Given the description of an element on the screen output the (x, y) to click on. 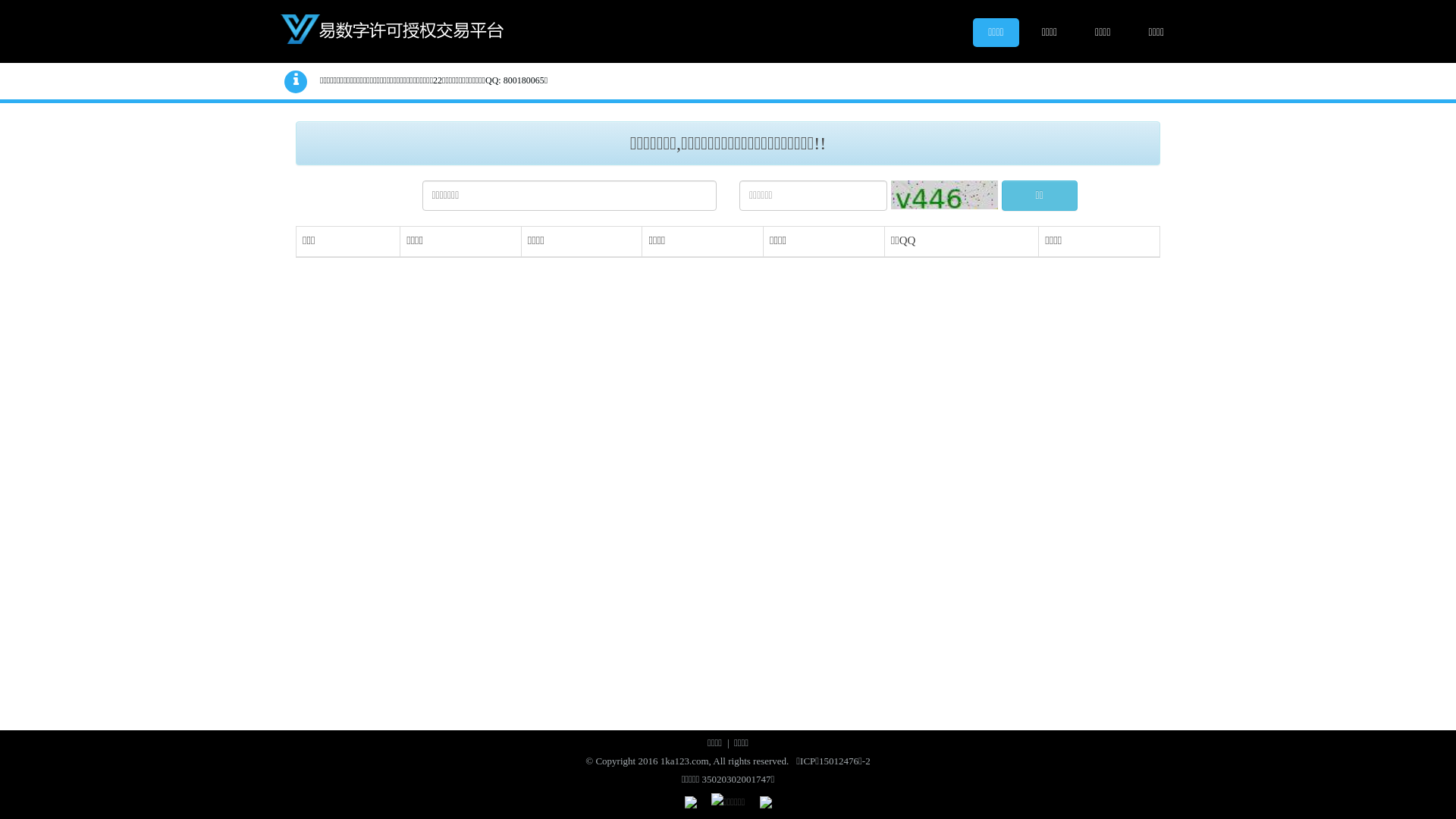
  Element type: text (397, 28)
